Given the description of an element on the screen output the (x, y) to click on. 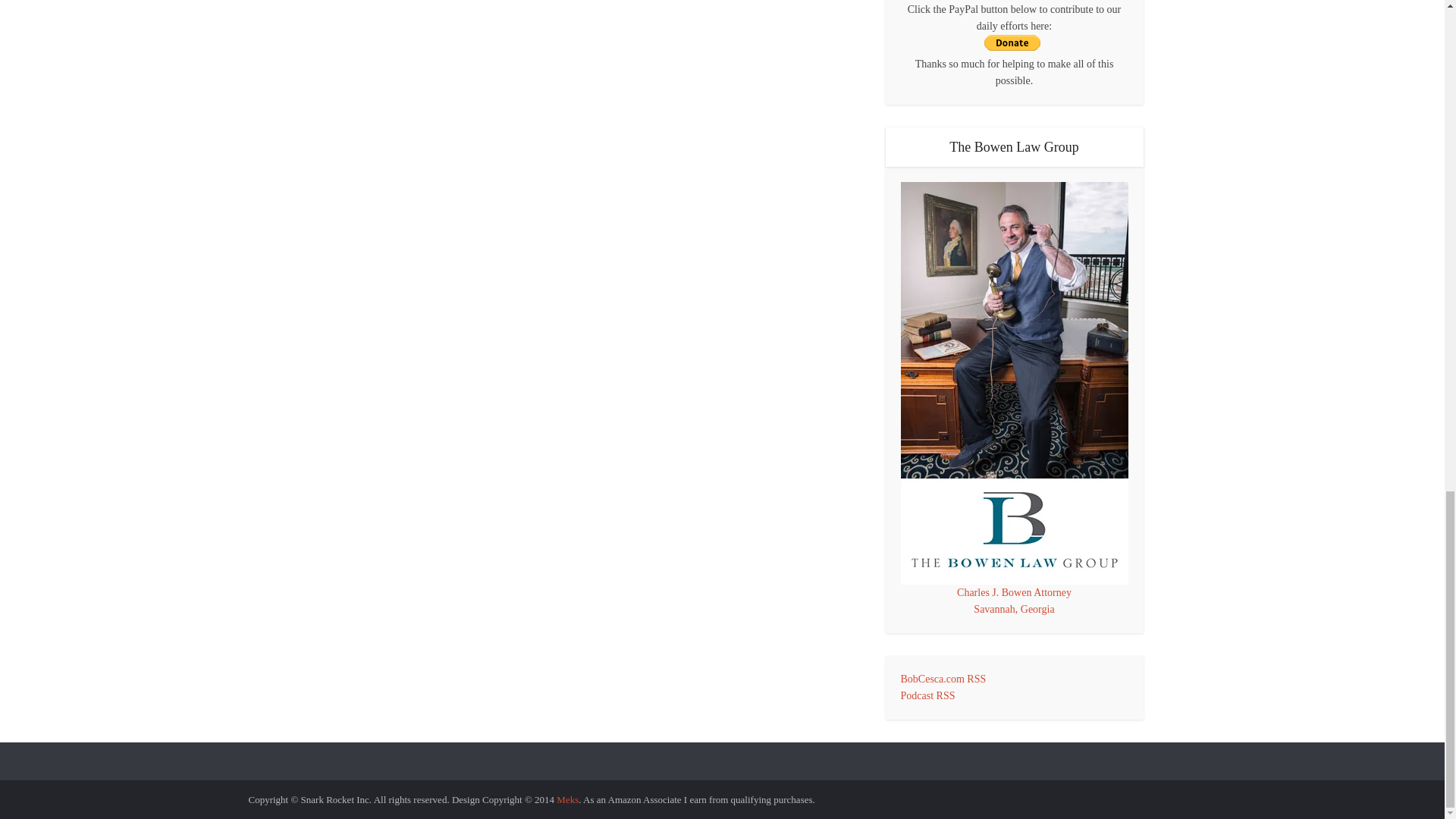
PayPal - The safer, easier way to pay online! (1012, 42)
